Given the description of an element on the screen output the (x, y) to click on. 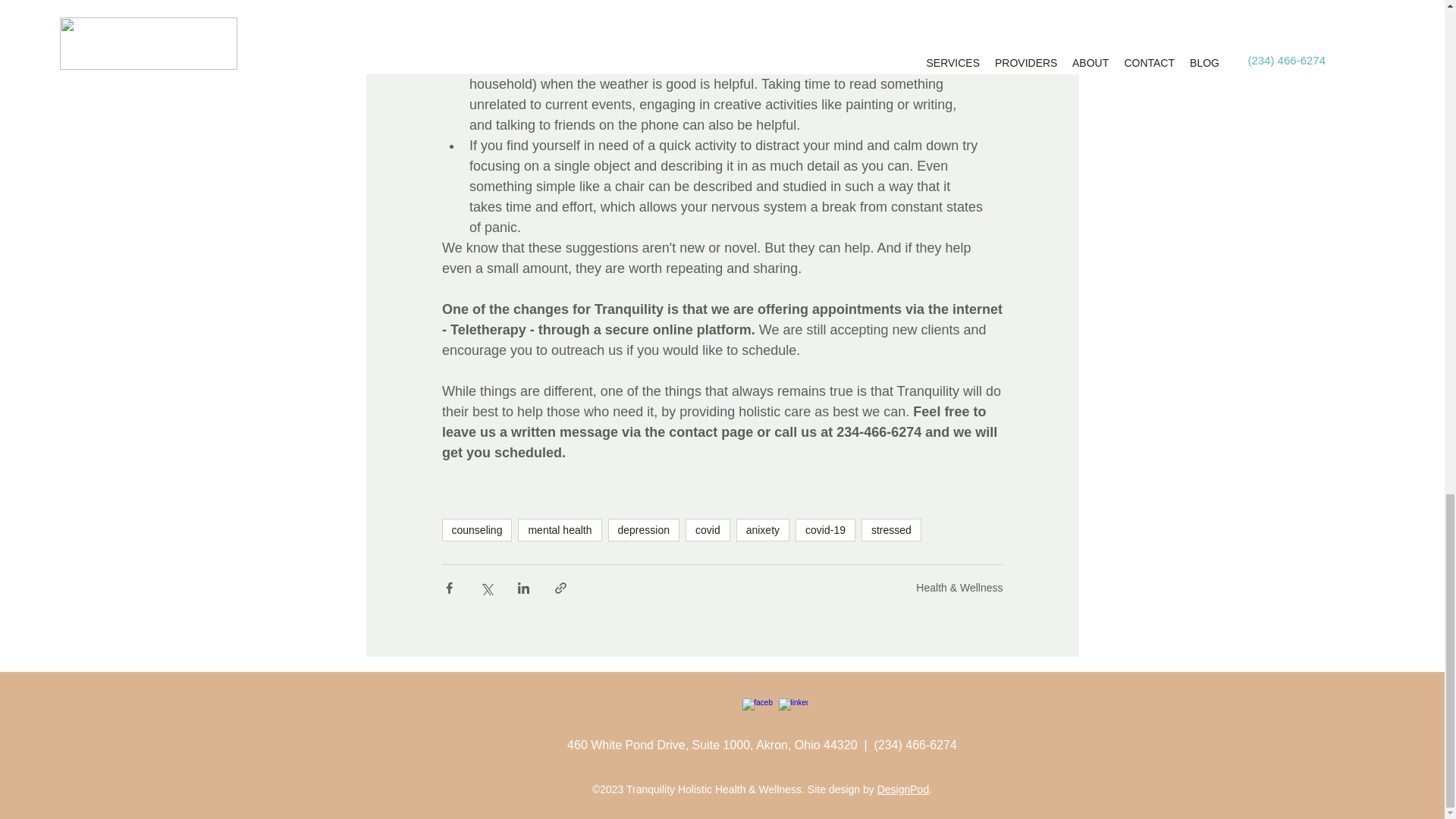
DesignPod (903, 788)
anixety (762, 529)
mental health (559, 529)
Suite 1000,  (725, 744)
stressed (891, 529)
covid-19 (825, 529)
depression (643, 529)
460 White Pond Drive,  (630, 744)
counseling (476, 529)
covid (707, 529)
